Given the description of an element on the screen output the (x, y) to click on. 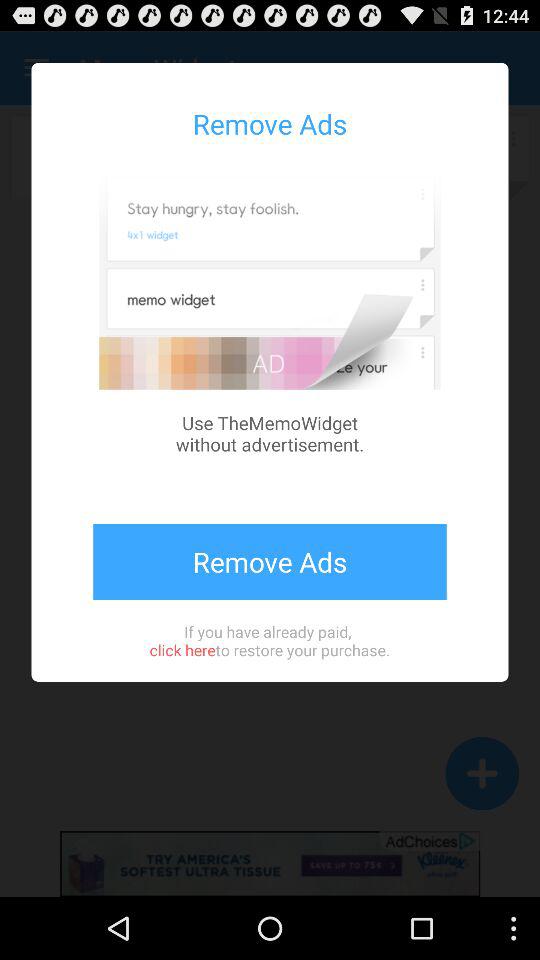
turn on if you have (269, 640)
